Given the description of an element on the screen output the (x, y) to click on. 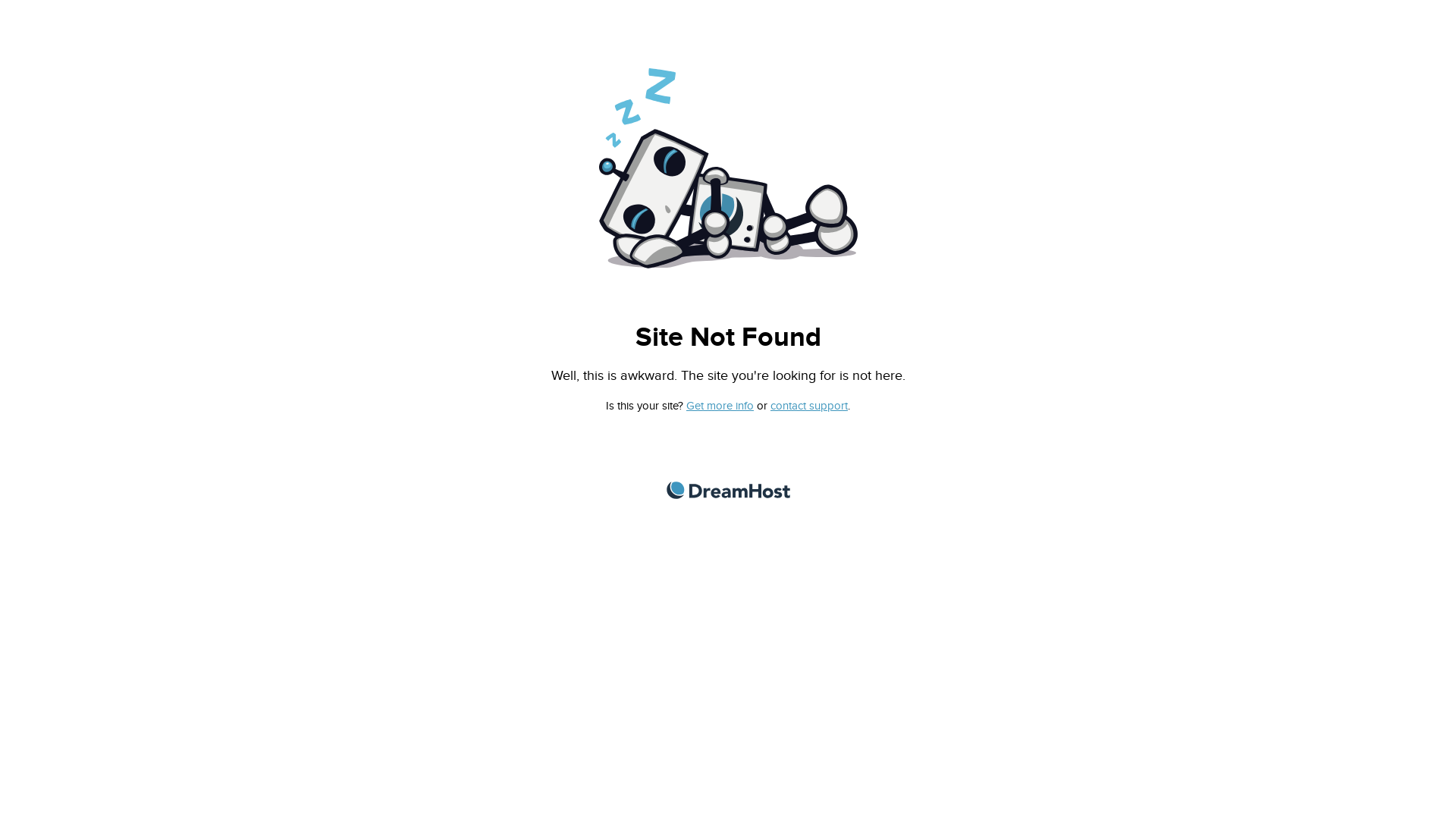
DreamHost Element type: text (727, 489)
contact support Element type: text (808, 405)
Get more info Element type: text (719, 405)
